Given the description of an element on the screen output the (x, y) to click on. 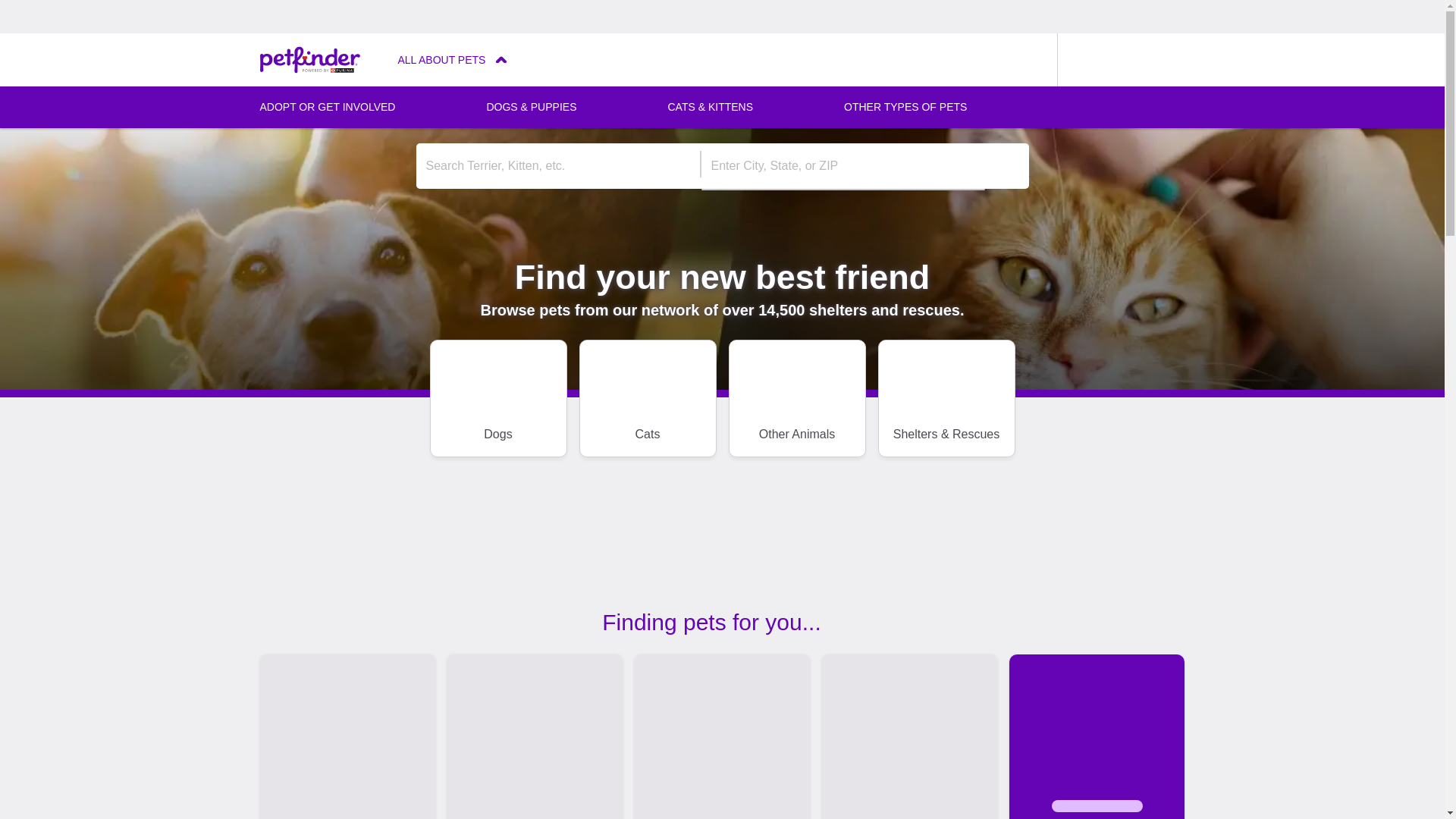
OTHER TYPES OF PETS (905, 106)
Dogs (497, 398)
ADOPT OR GET INVOLVED (326, 106)
Favorites (1030, 59)
ALL ABOUT PETS (451, 59)
Petfinder Logo (309, 59)
